Given the description of an element on the screen output the (x, y) to click on. 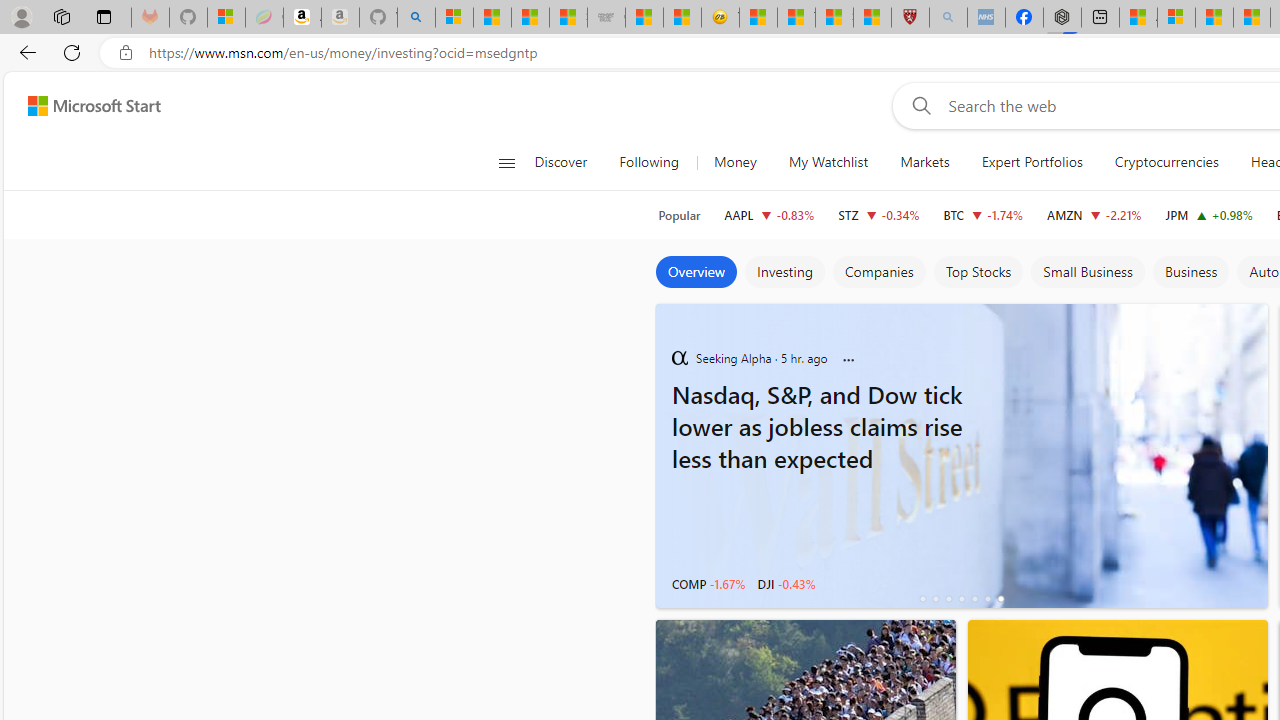
Microsoft account | Privacy (1176, 17)
Popular (679, 215)
Markets (924, 162)
Overview (696, 272)
Money (735, 162)
Following (649, 162)
Combat Siege (605, 17)
Companies (878, 272)
